Given the description of an element on the screen output the (x, y) to click on. 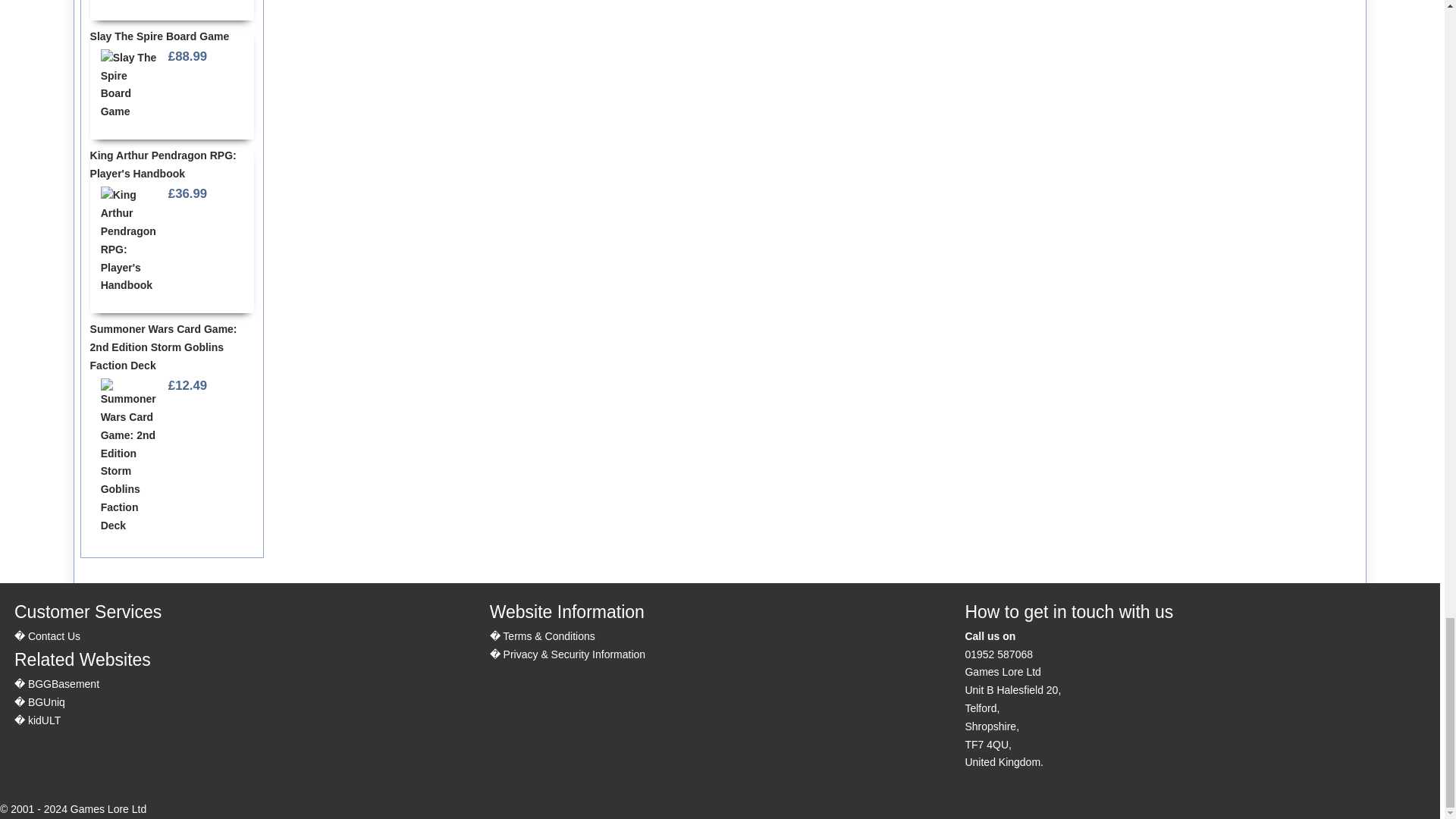
Slay The Spire Board Game (128, 85)
King Arthur Pendragon RPG: Player's Handbook (128, 240)
